Given the description of an element on the screen output the (x, y) to click on. 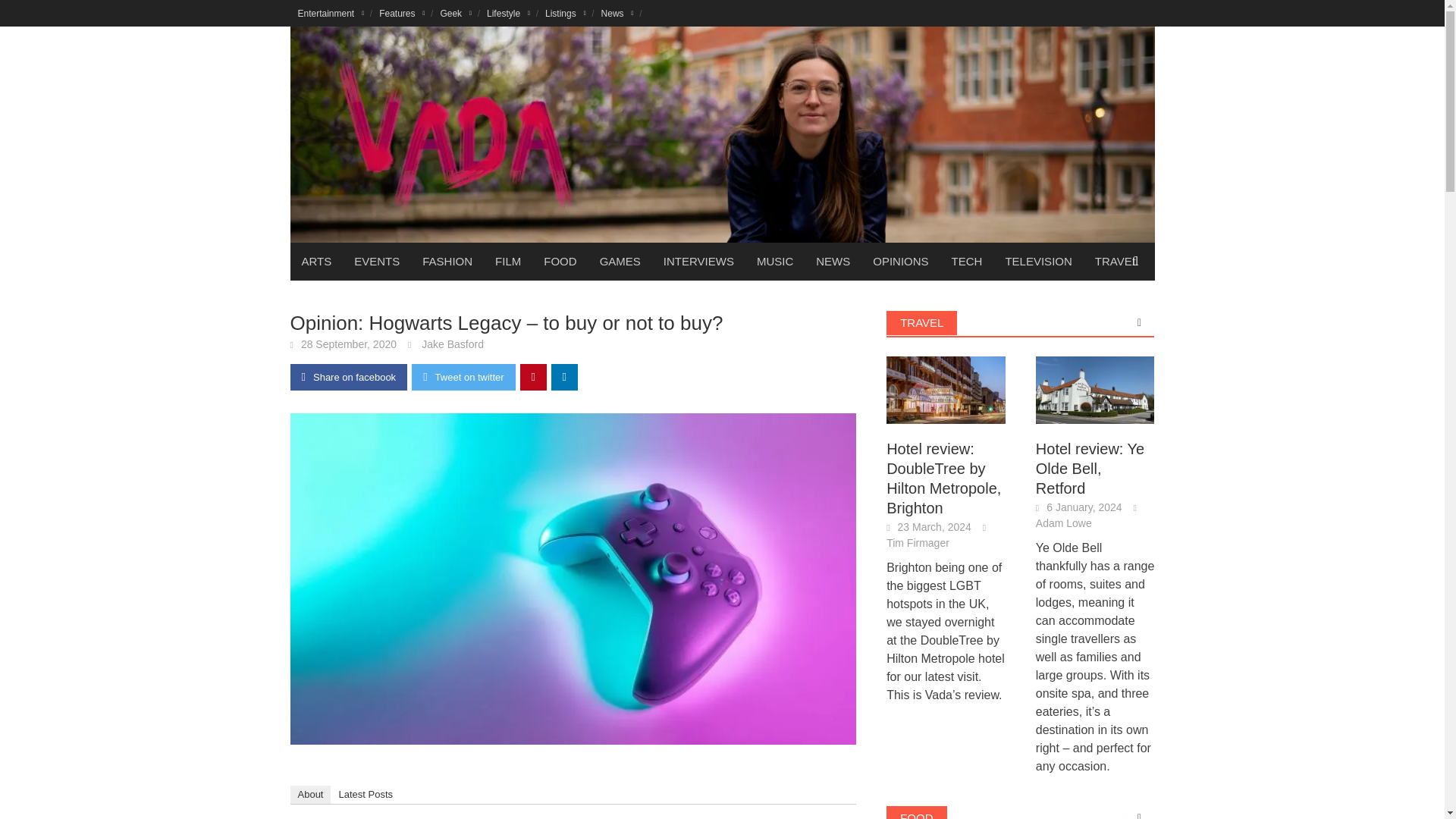
Lifestyle (508, 13)
Hotel review: Ye Olde Bell, Retford (1094, 390)
Features (401, 13)
Geek (455, 13)
Listings (565, 13)
Hotel review: Ye Olde Bell, Retford (1094, 389)
News (618, 13)
Entertainment (330, 13)
Hotel review: DoubleTree by Hilton Metropole, Brighton (946, 389)
Hotel review: DoubleTree by Hilton Metropole, Brighton (946, 390)
